Given the description of an element on the screen output the (x, y) to click on. 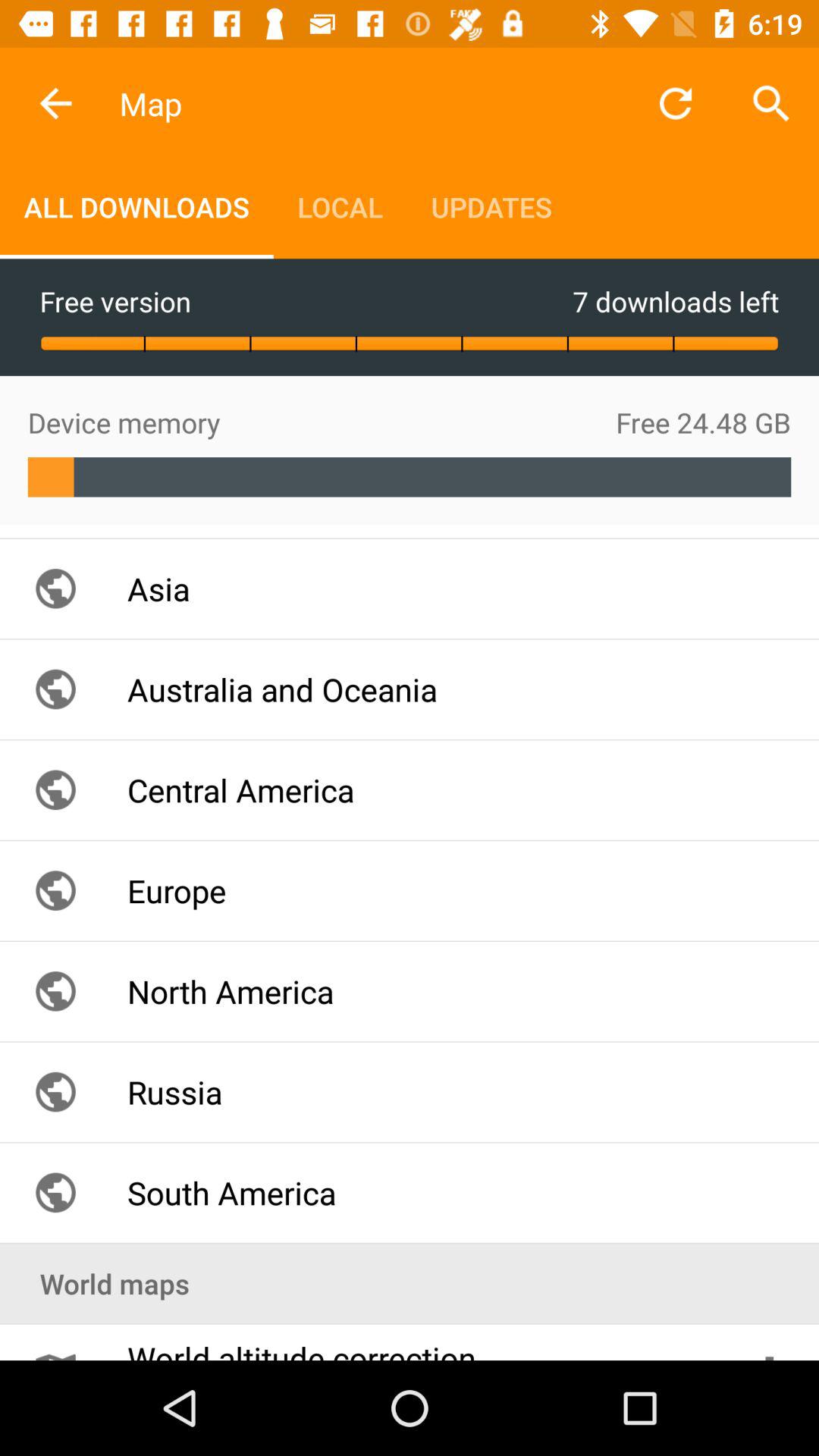
press item next to local icon (491, 206)
